Given the description of an element on the screen output the (x, y) to click on. 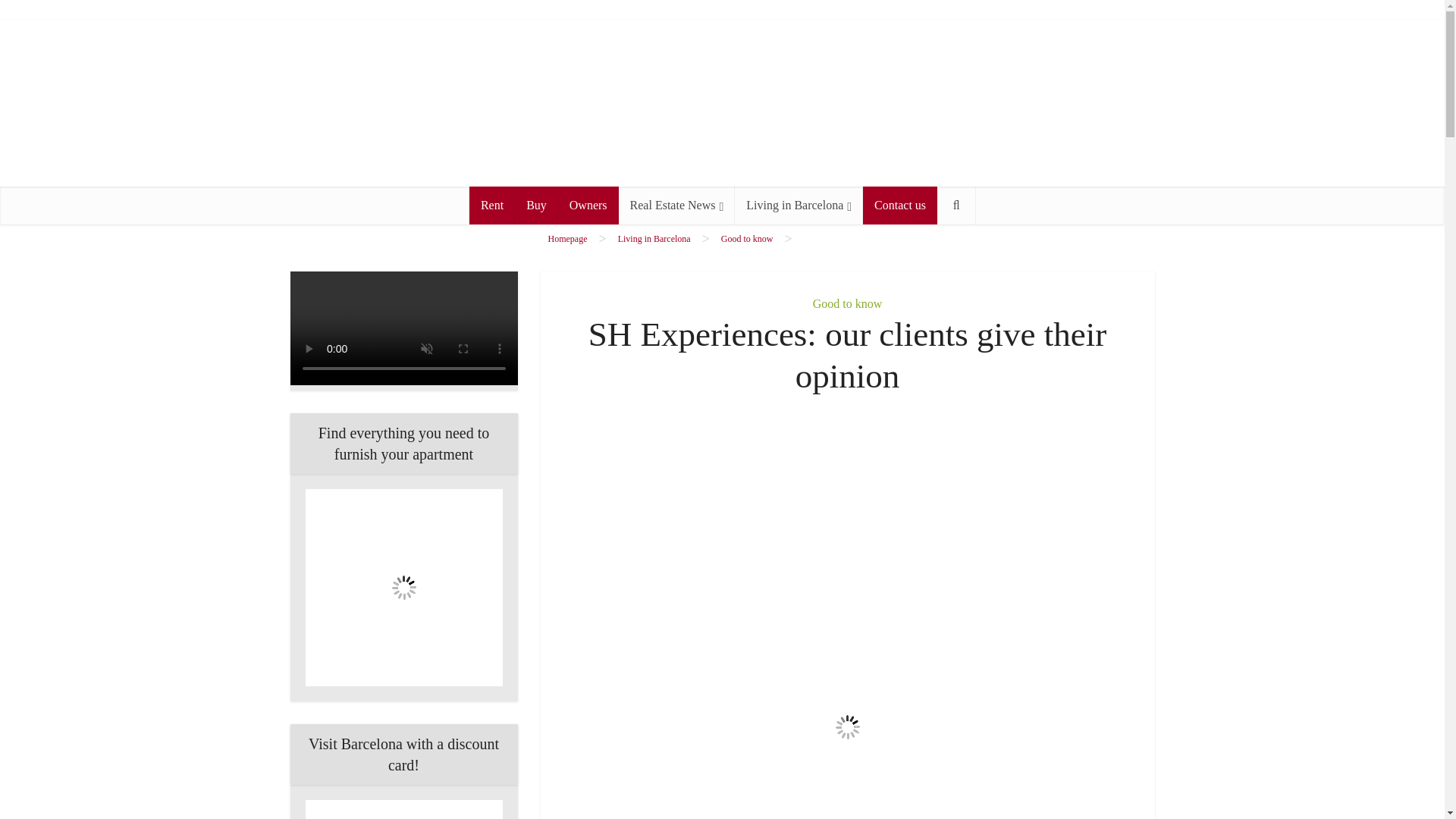
Homepage (566, 238)
Real Estate News (676, 205)
Buy (536, 205)
Good to know (746, 238)
Living in Barcelona (653, 238)
Living in Barcelona (799, 205)
Contact us (900, 205)
Rent (491, 205)
Barcelona City Pass (403, 809)
Owners (587, 205)
